Given the description of an element on the screen output the (x, y) to click on. 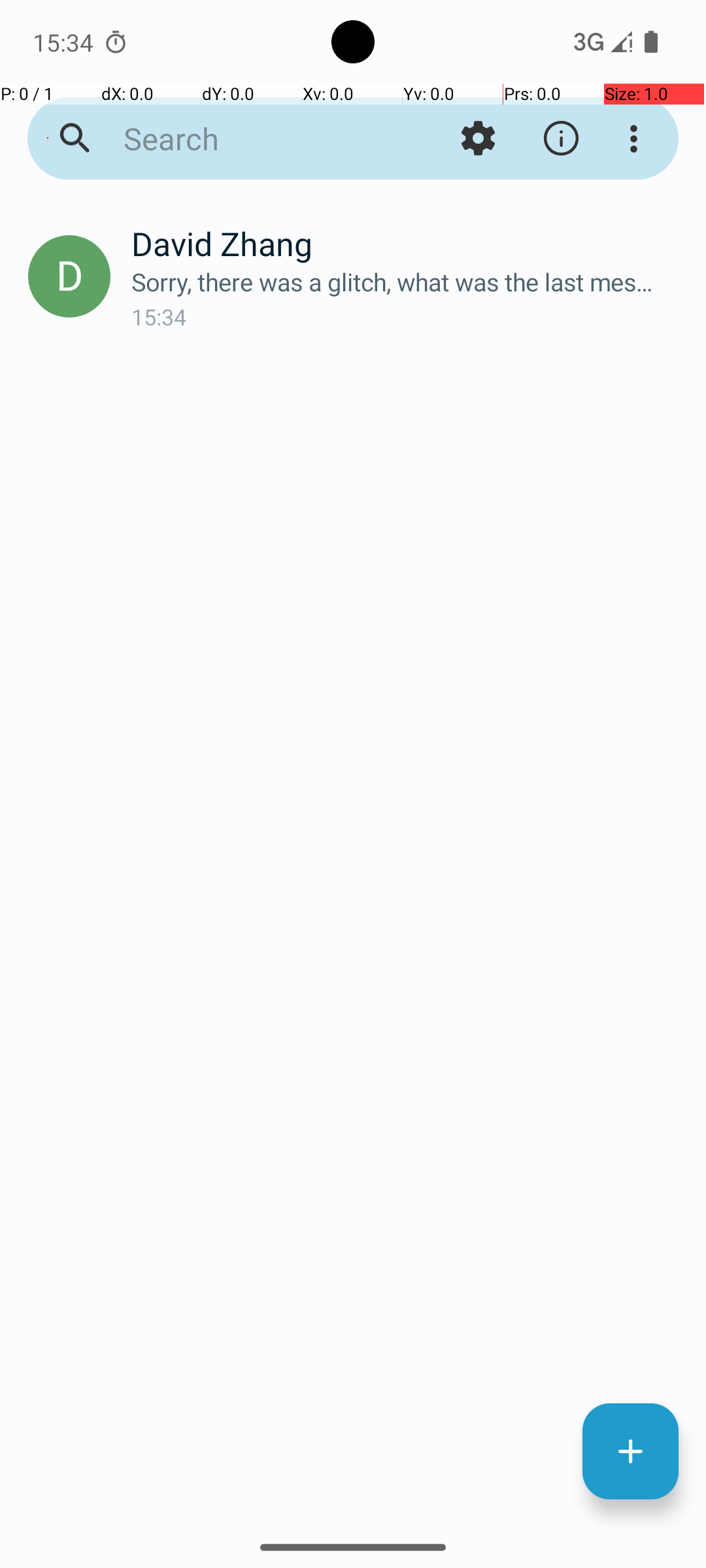
David Zhang Element type: android.widget.TextView (408, 242)
